Given the description of an element on the screen output the (x, y) to click on. 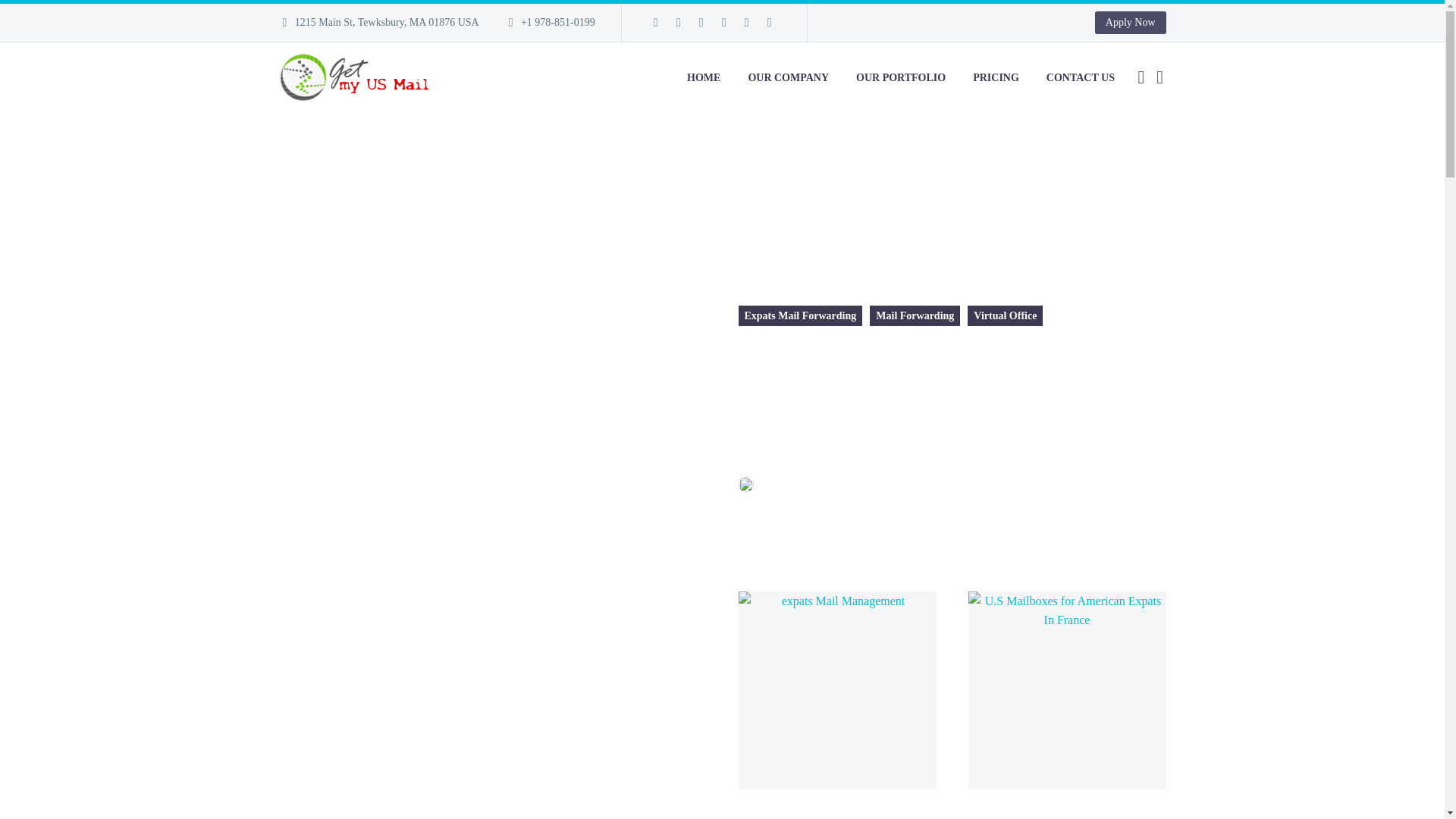
Pinterest (746, 22)
Twitter (701, 22)
HOME (703, 76)
Mail Forwarding (914, 315)
OUR PORTFOLIO (900, 76)
PRICING (995, 76)
YouTube (769, 22)
Facebook (655, 22)
CONTACT US (1080, 76)
Expats Mail Forwarding (800, 315)
